Given the description of an element on the screen output the (x, y) to click on. 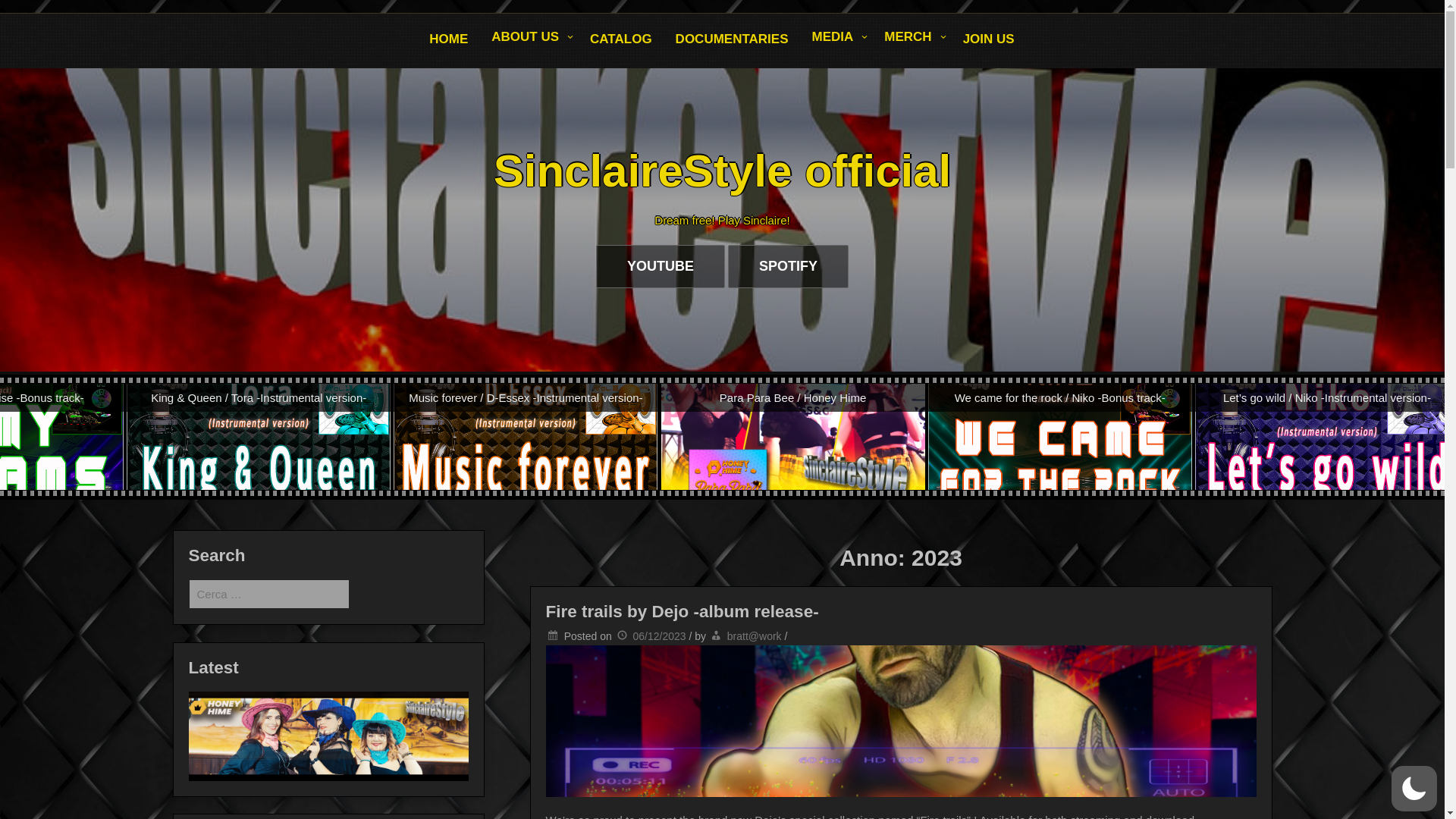
JOIN US (989, 39)
ABOUT US (529, 38)
SinclaireStyle official (722, 170)
CATALOG (620, 39)
SPOTIFY (788, 266)
HOME (448, 39)
YOUTUBE (661, 266)
DOCUMENTARIES (731, 39)
MERCH (911, 38)
MEDIA (836, 38)
